Given the description of an element on the screen output the (x, y) to click on. 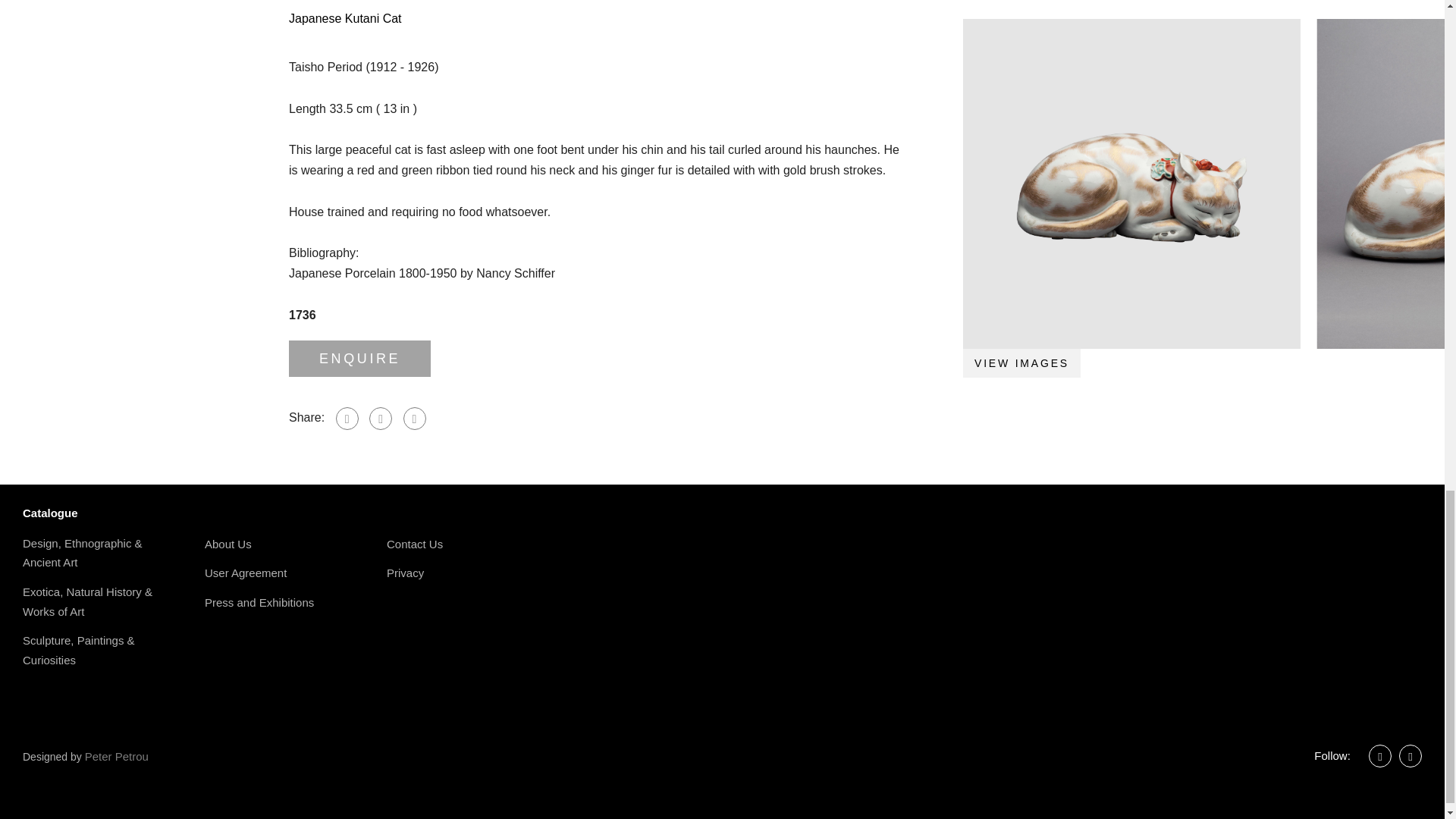
ENQUIRE (359, 358)
